Given the description of an element on the screen output the (x, y) to click on. 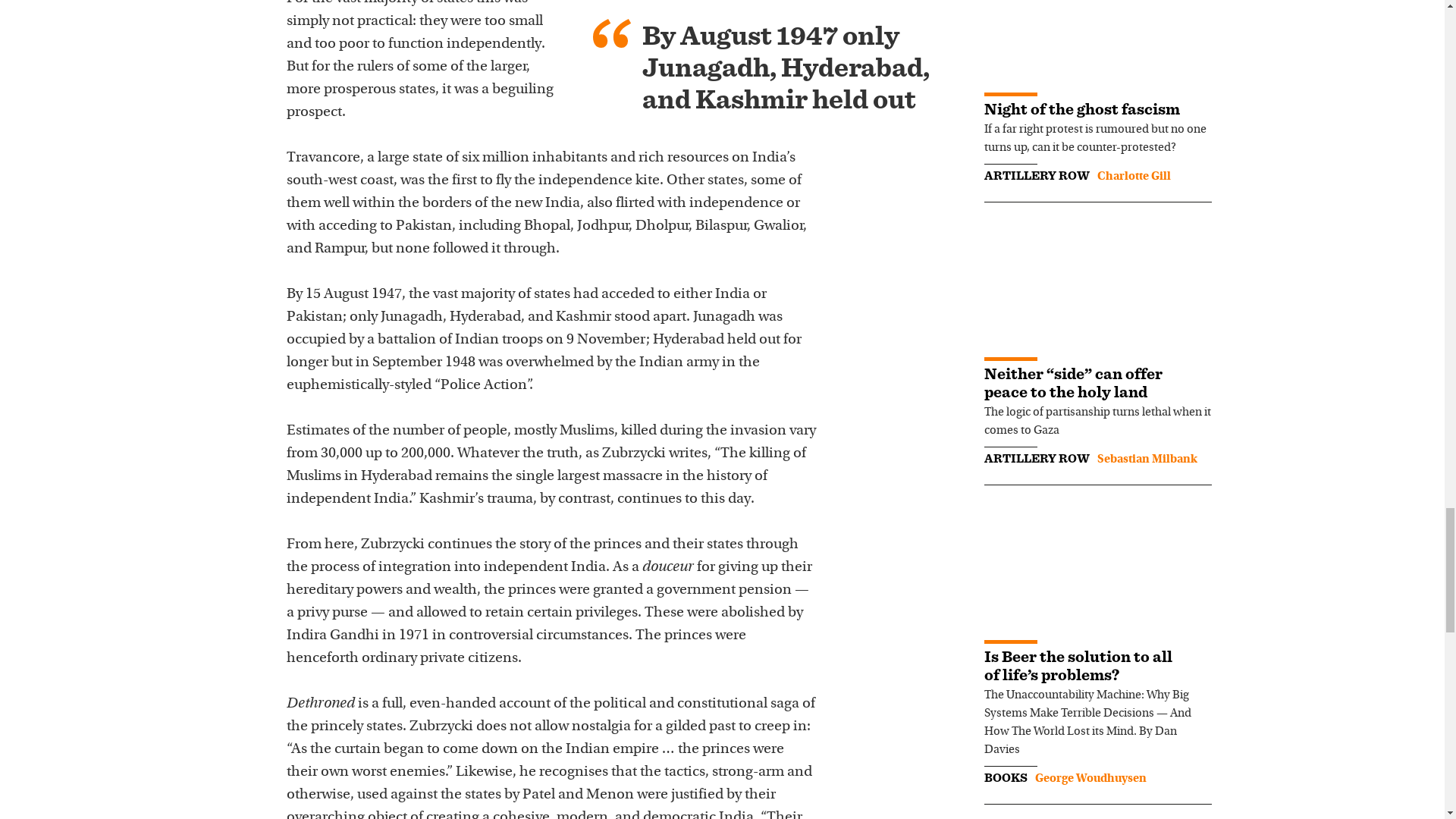
Posts by Charlotte Gill (1133, 176)
Posts by George Woudhuysen (1089, 778)
Posts by Sebastian Milbank (1146, 459)
